Given the description of an element on the screen output the (x, y) to click on. 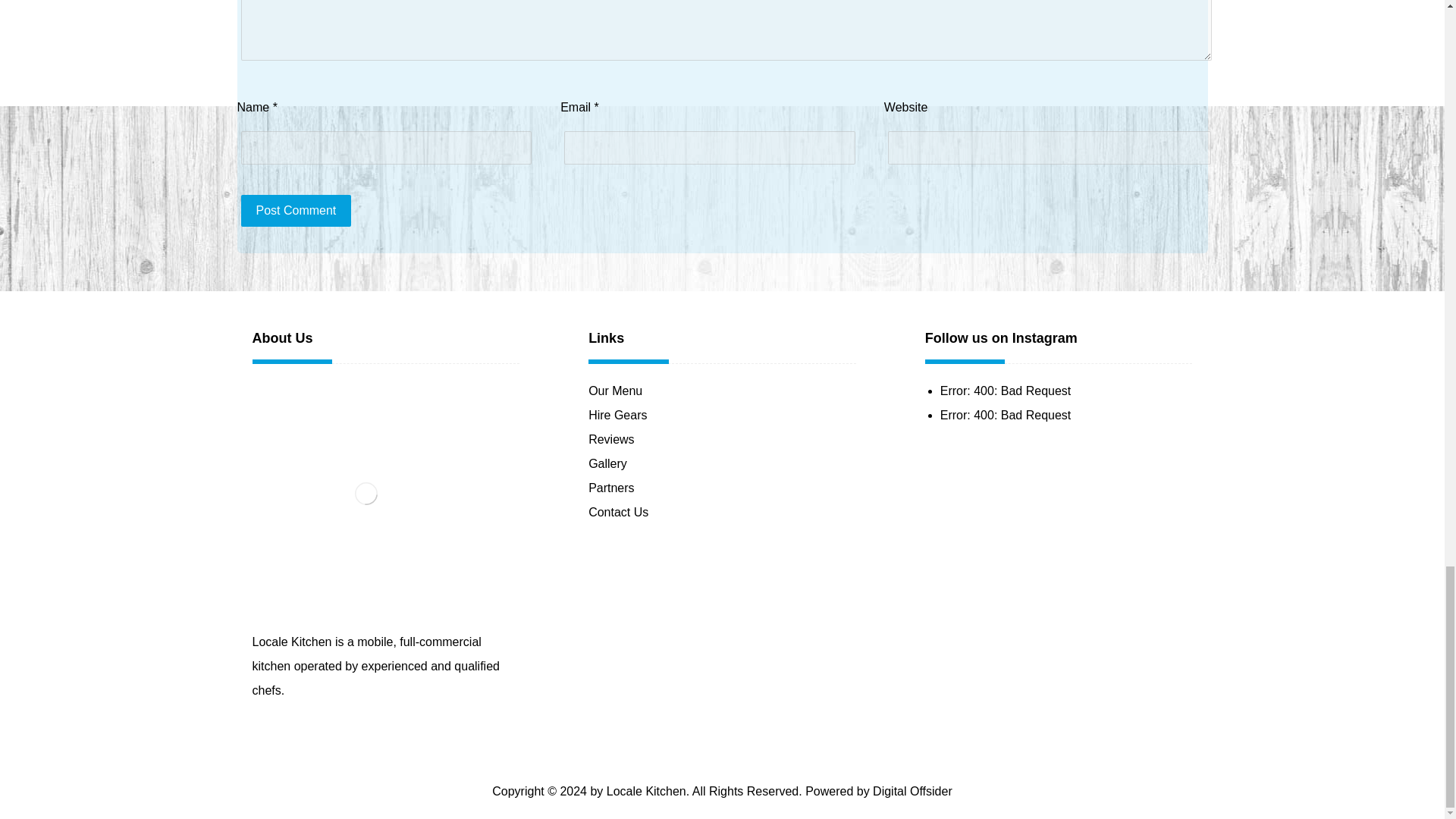
Post Comment (296, 210)
